Given the description of an element on the screen output the (x, y) to click on. 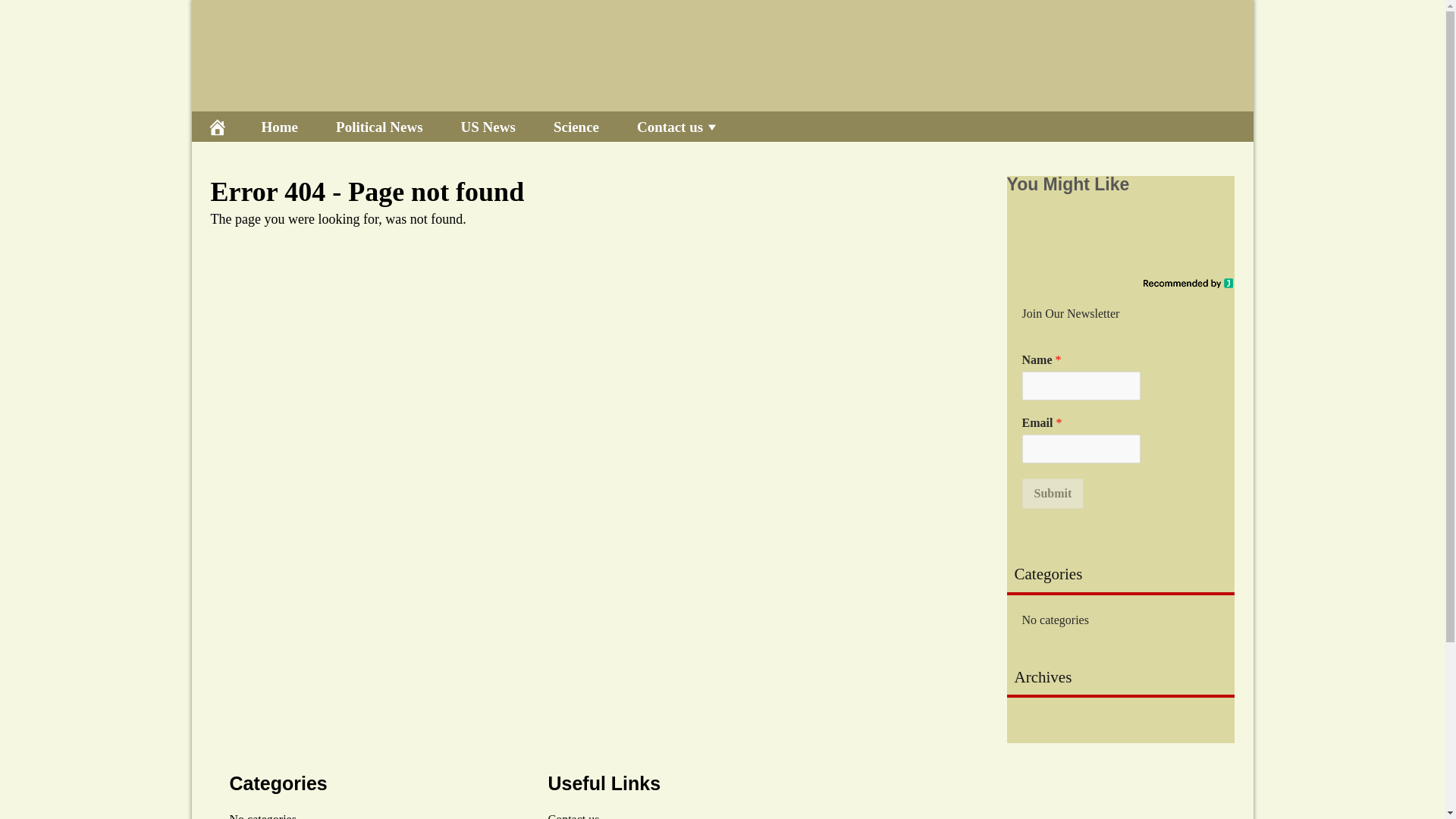
Submit (1053, 493)
Science (575, 126)
Political News (379, 126)
Contact us (677, 126)
Home (280, 126)
Contact us (572, 816)
US News (488, 126)
Home Political News US News Science Contact us (721, 126)
